Given the description of an element on the screen output the (x, y) to click on. 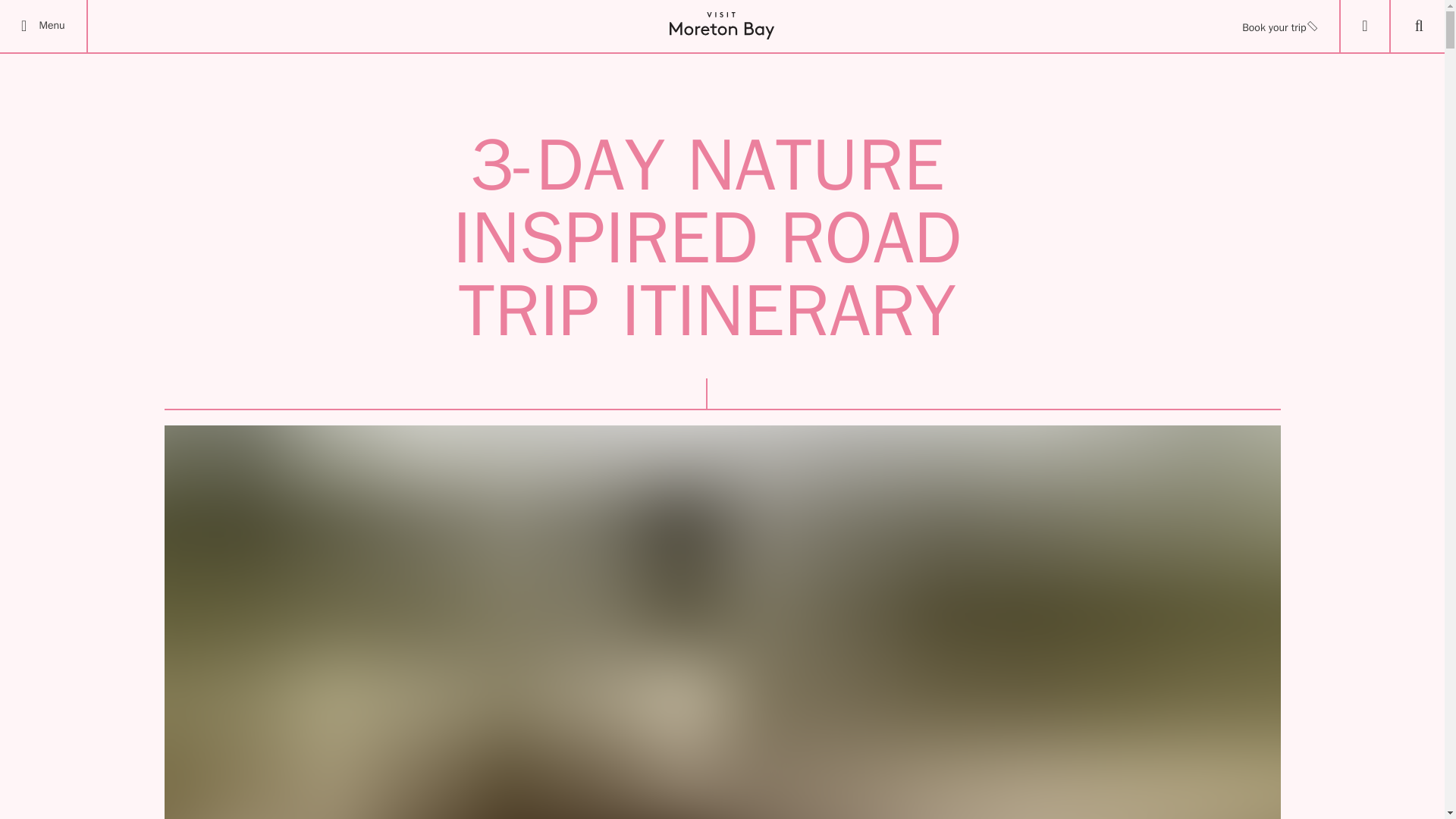
Book your trip (1278, 26)
Menu (43, 26)
